Given the description of an element on the screen output the (x, y) to click on. 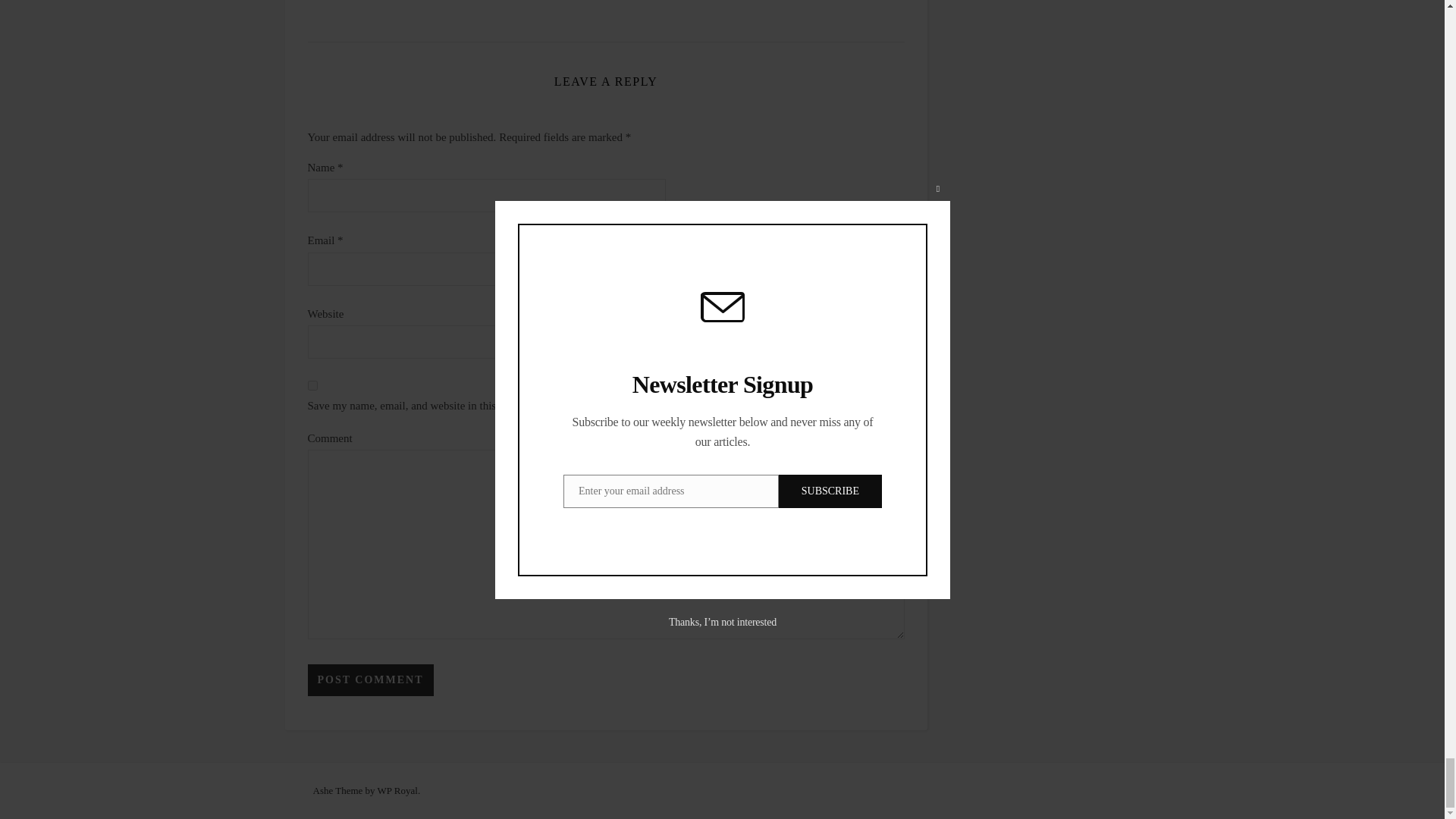
Post Comment (370, 680)
yes (312, 385)
